Given the description of an element on the screen output the (x, y) to click on. 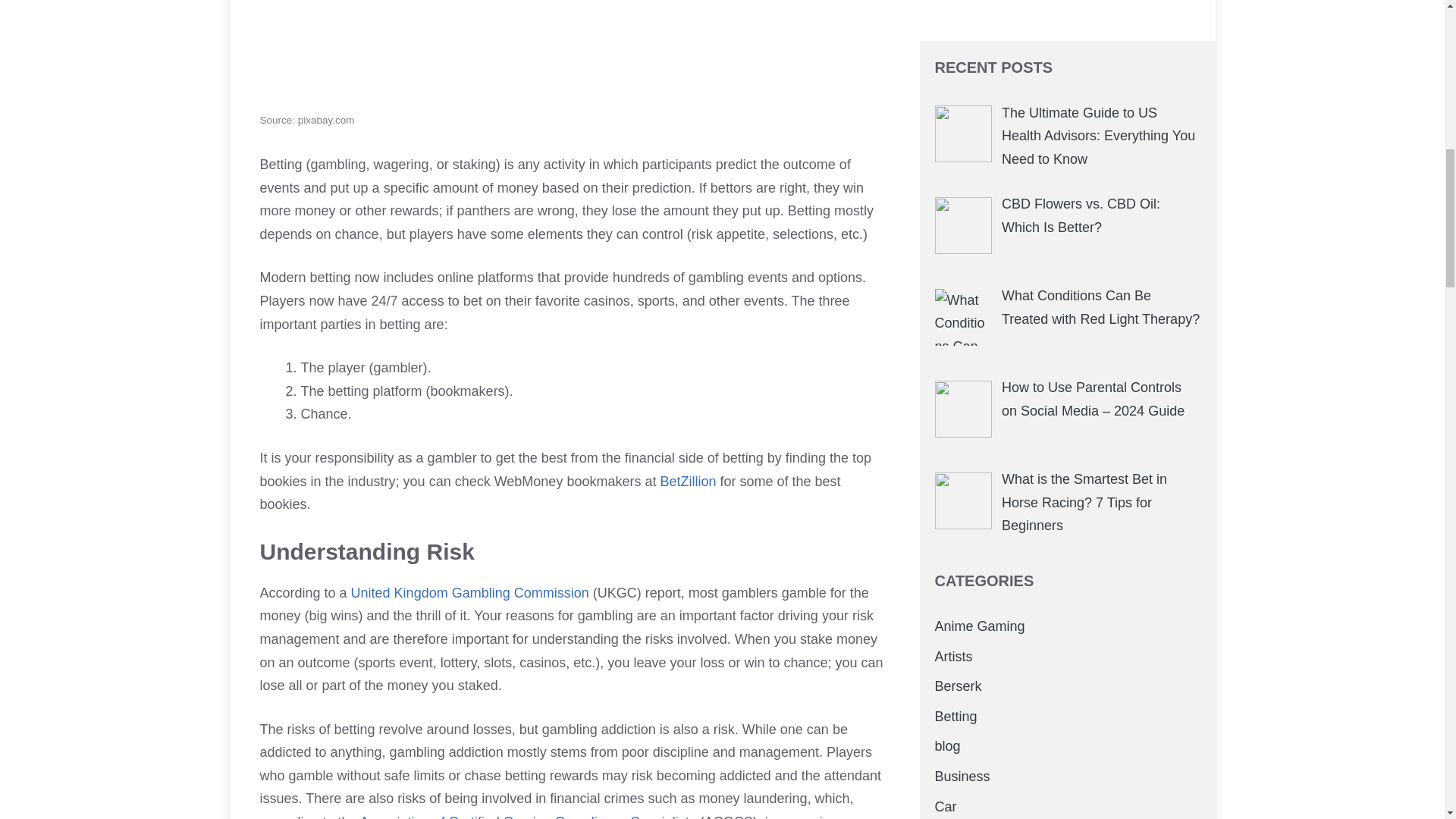
blog (946, 2)
Car (945, 57)
Dating (954, 117)
Business (962, 27)
United Kingdom Gambling Commission (469, 592)
BetZillion (687, 481)
Association of Certified Gaming Compliance Specialists (527, 816)
Casino (955, 87)
